Given the description of an element on the screen output the (x, y) to click on. 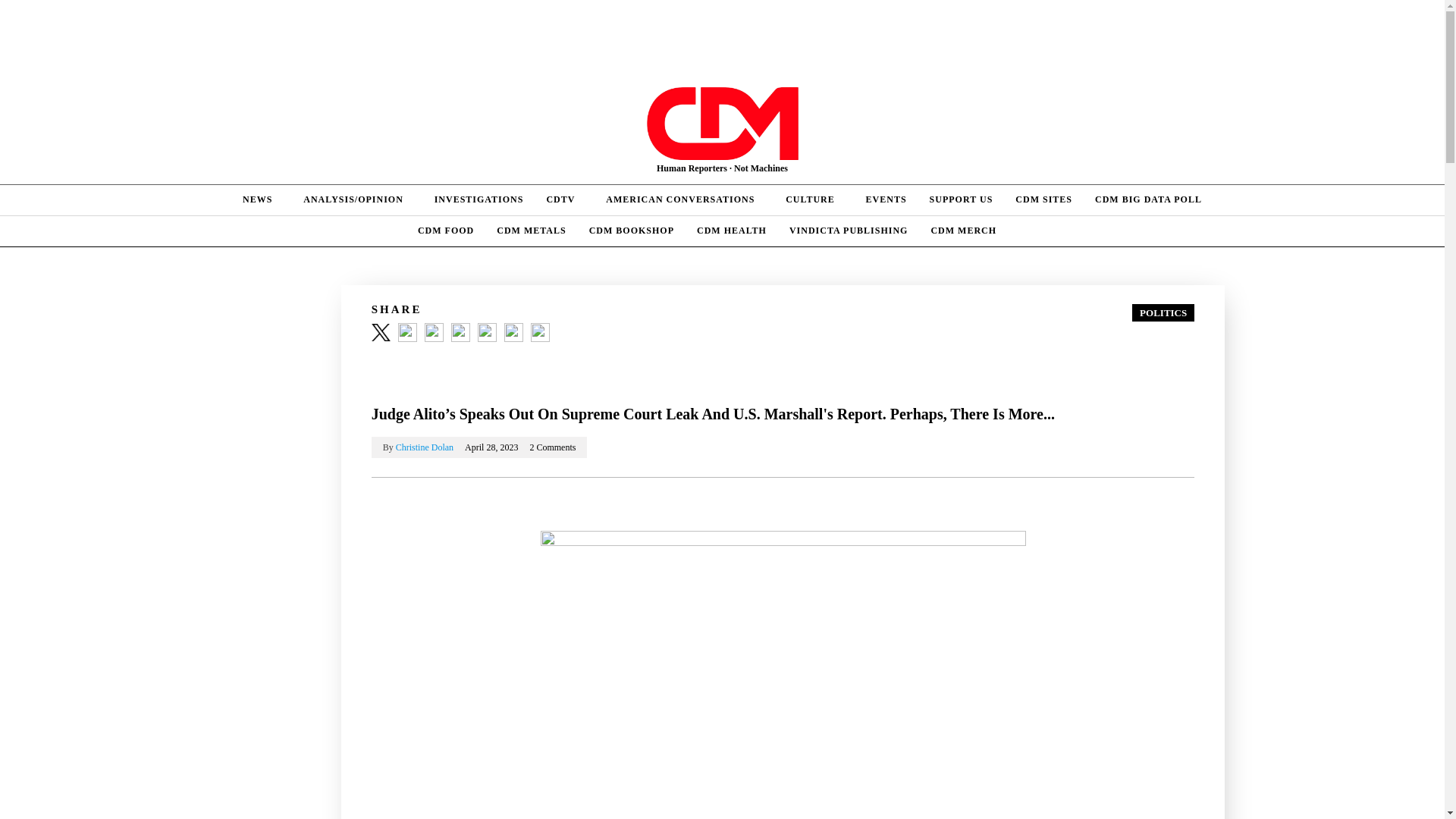
AMERICAN CONVERSATIONS (684, 200)
NEWS (261, 200)
CDTV (564, 200)
INVESTIGATIONS (479, 200)
